Given the description of an element on the screen output the (x, y) to click on. 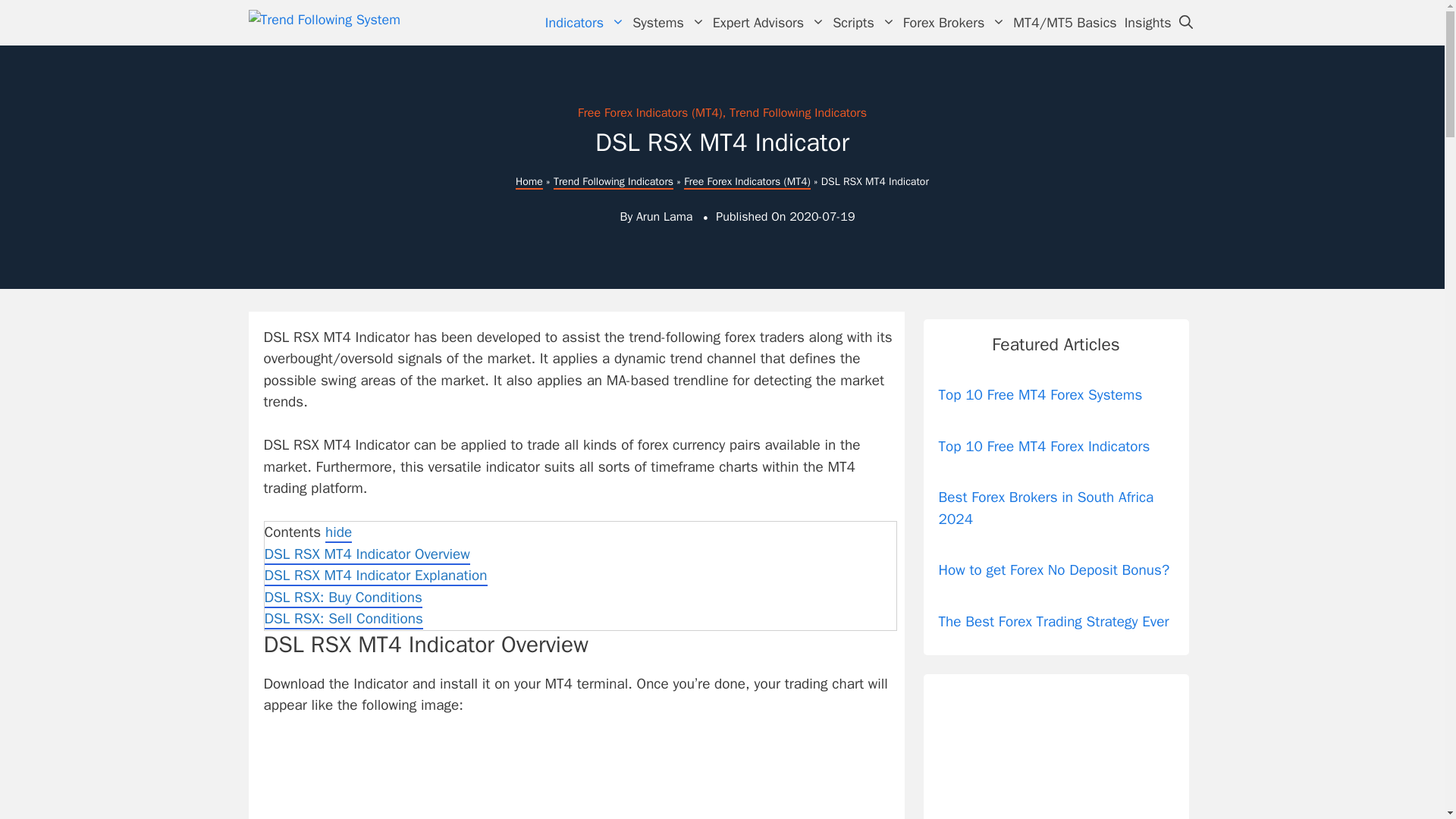
Expert Advisors (768, 22)
Trend Following System (331, 22)
Forex Brokers (954, 22)
Trend Following Indicators (612, 182)
Indicators (584, 22)
DSL RSX: Sell Conditions (342, 619)
Systems (668, 22)
DSL RSX MT4 Indicator Explanation (374, 576)
DSL RSX MT4 Indicator 1 (547, 778)
DSL RSX: Buy Conditions (342, 598)
